Given the description of an element on the screen output the (x, y) to click on. 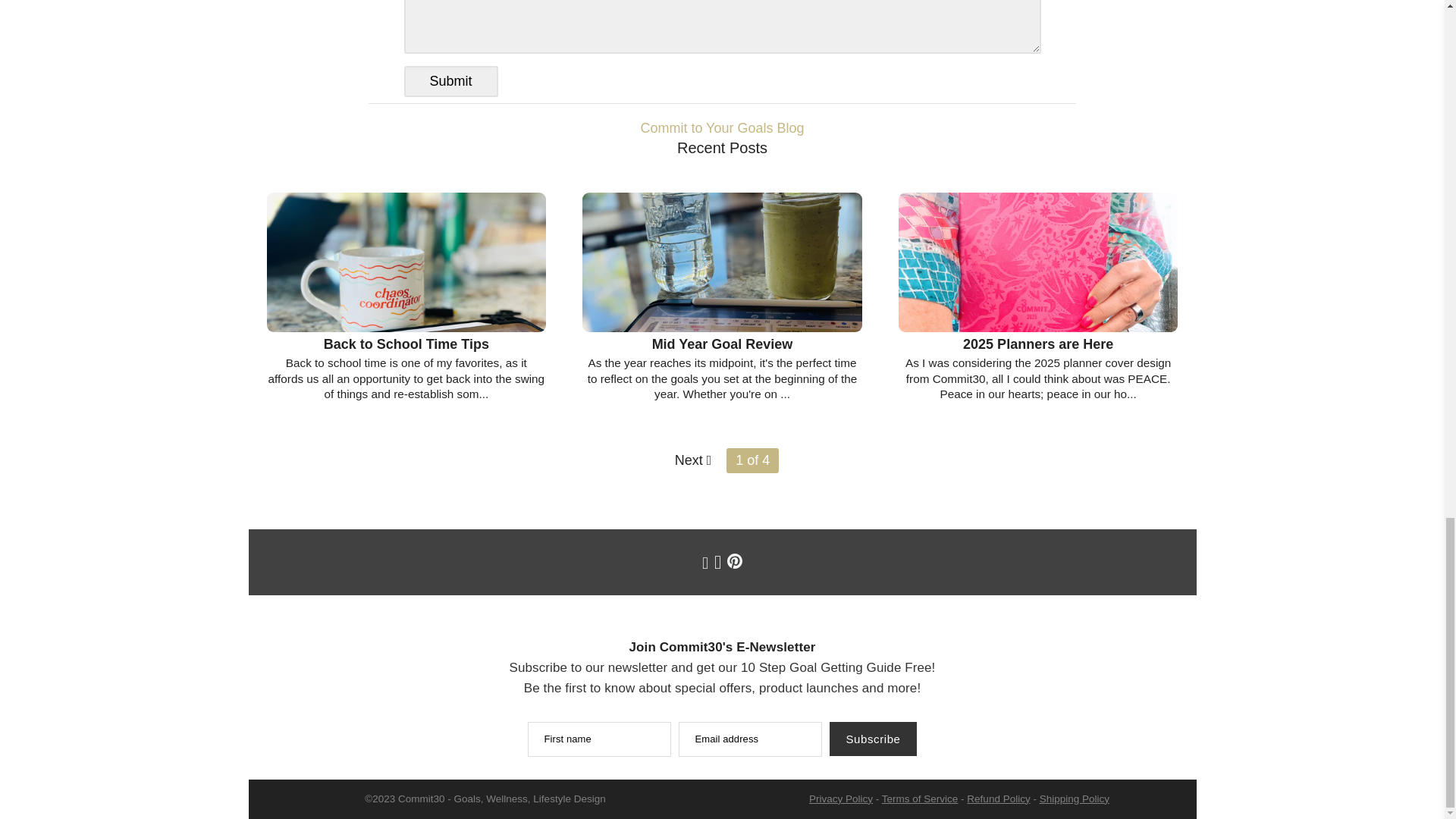
Privacy Policy (840, 797)
Submit (450, 81)
Terms of Service (920, 797)
Refund Policy (997, 797)
Shipping Policy (1074, 797)
